Given the description of an element on the screen output the (x, y) to click on. 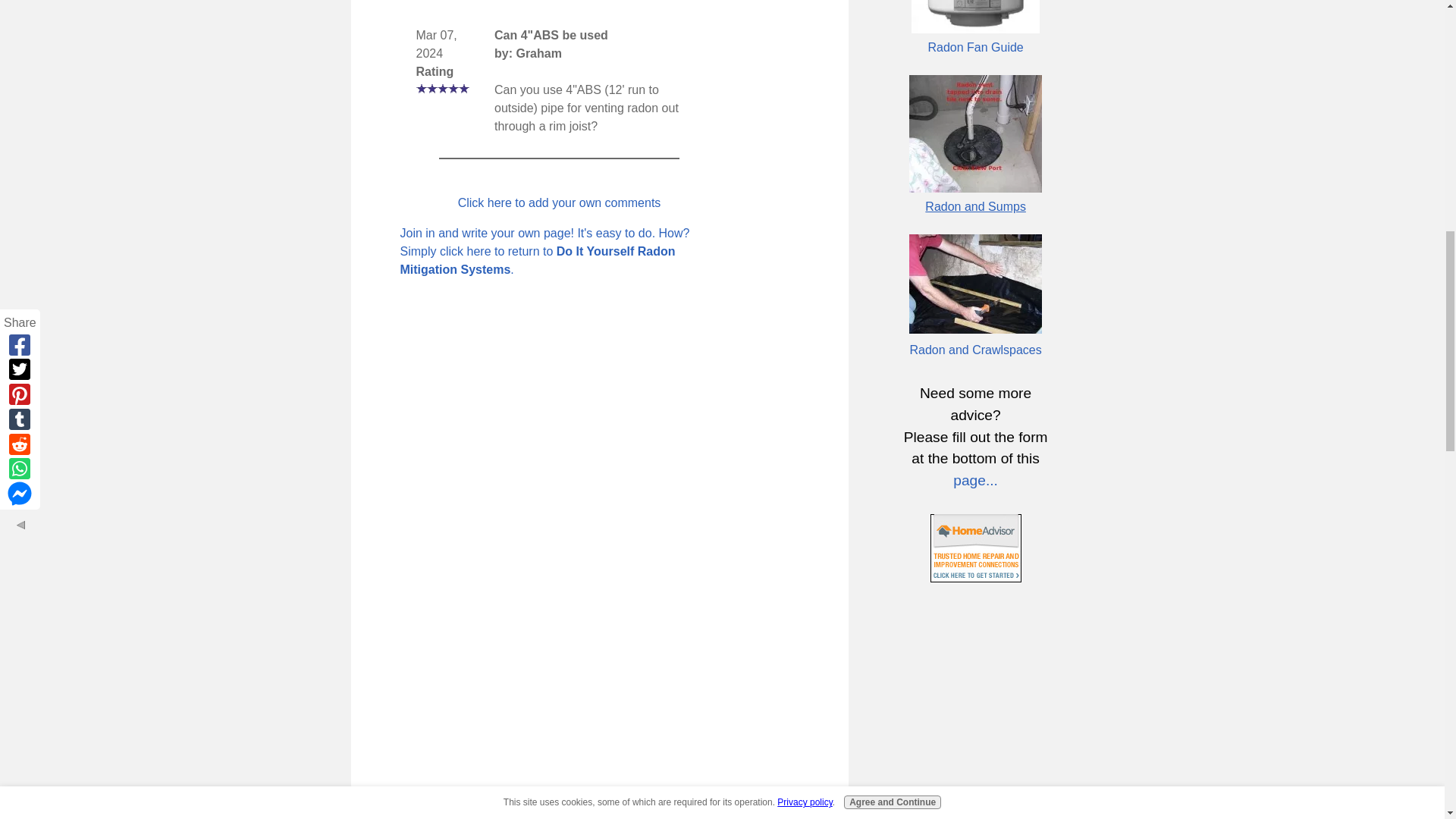
Click here to add your own comments (559, 202)
Radon Fan Guide (975, 47)
